Given the description of an element on the screen output the (x, y) to click on. 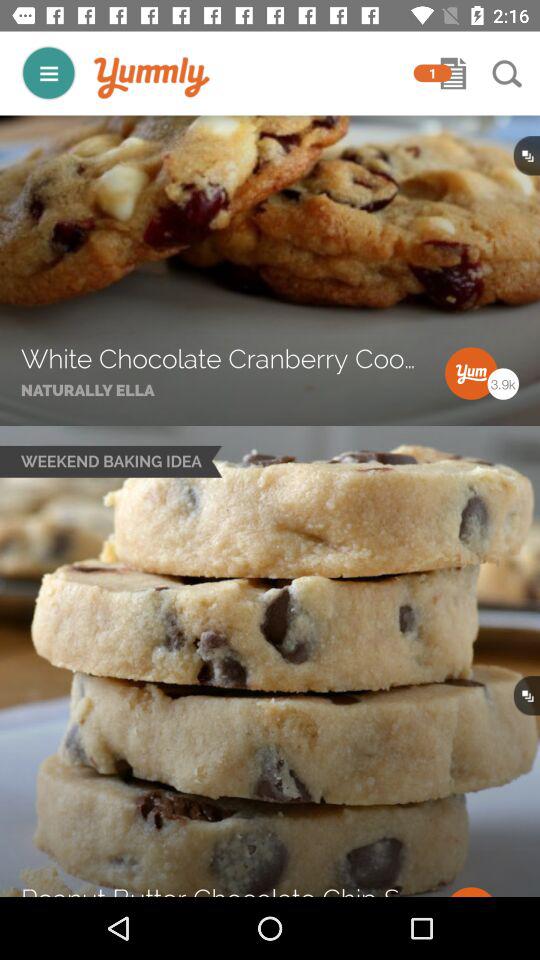
view notifications (453, 73)
